Given the description of an element on the screen output the (x, y) to click on. 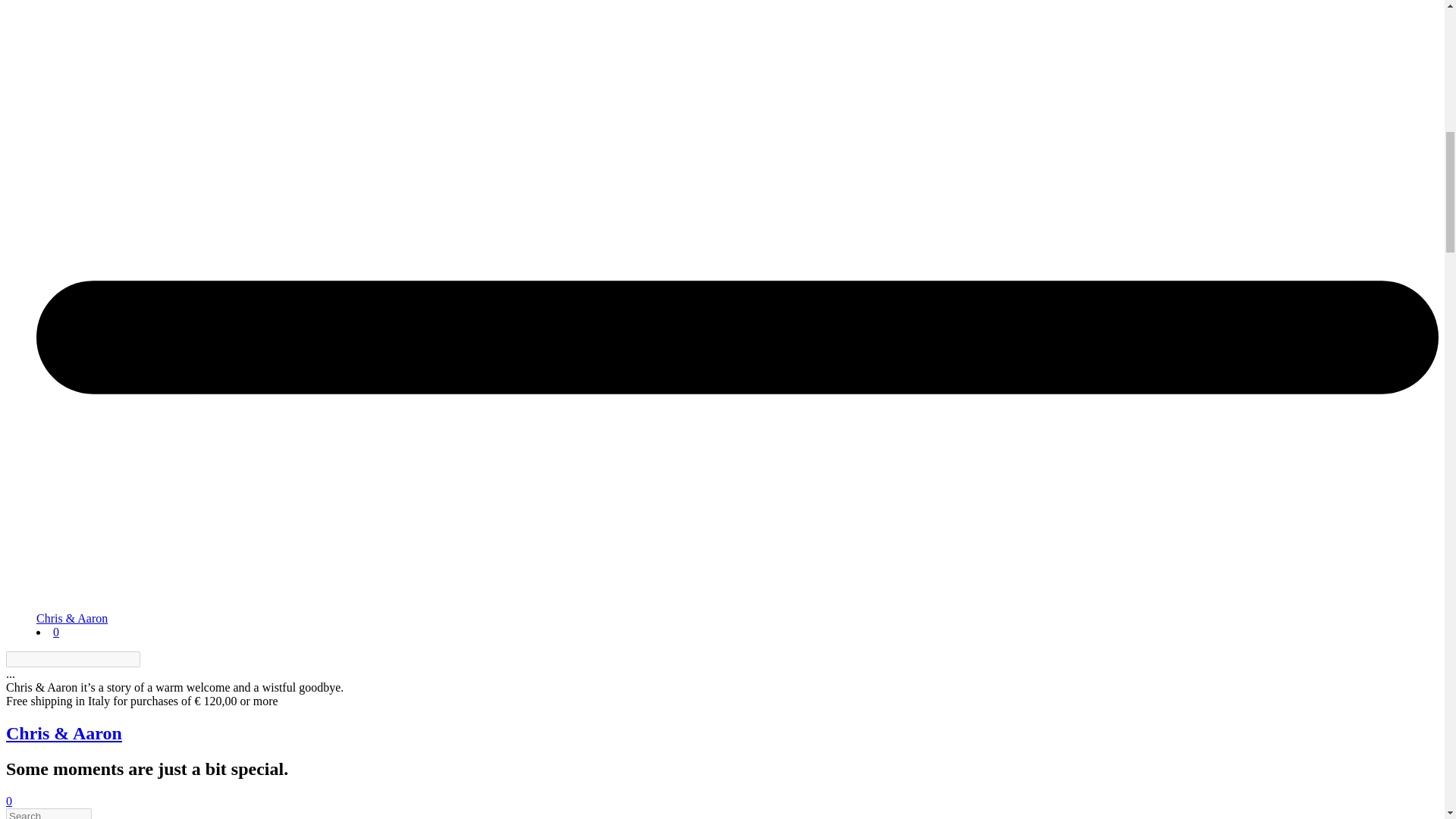
Find (148, 658)
